Given the description of an element on the screen output the (x, y) to click on. 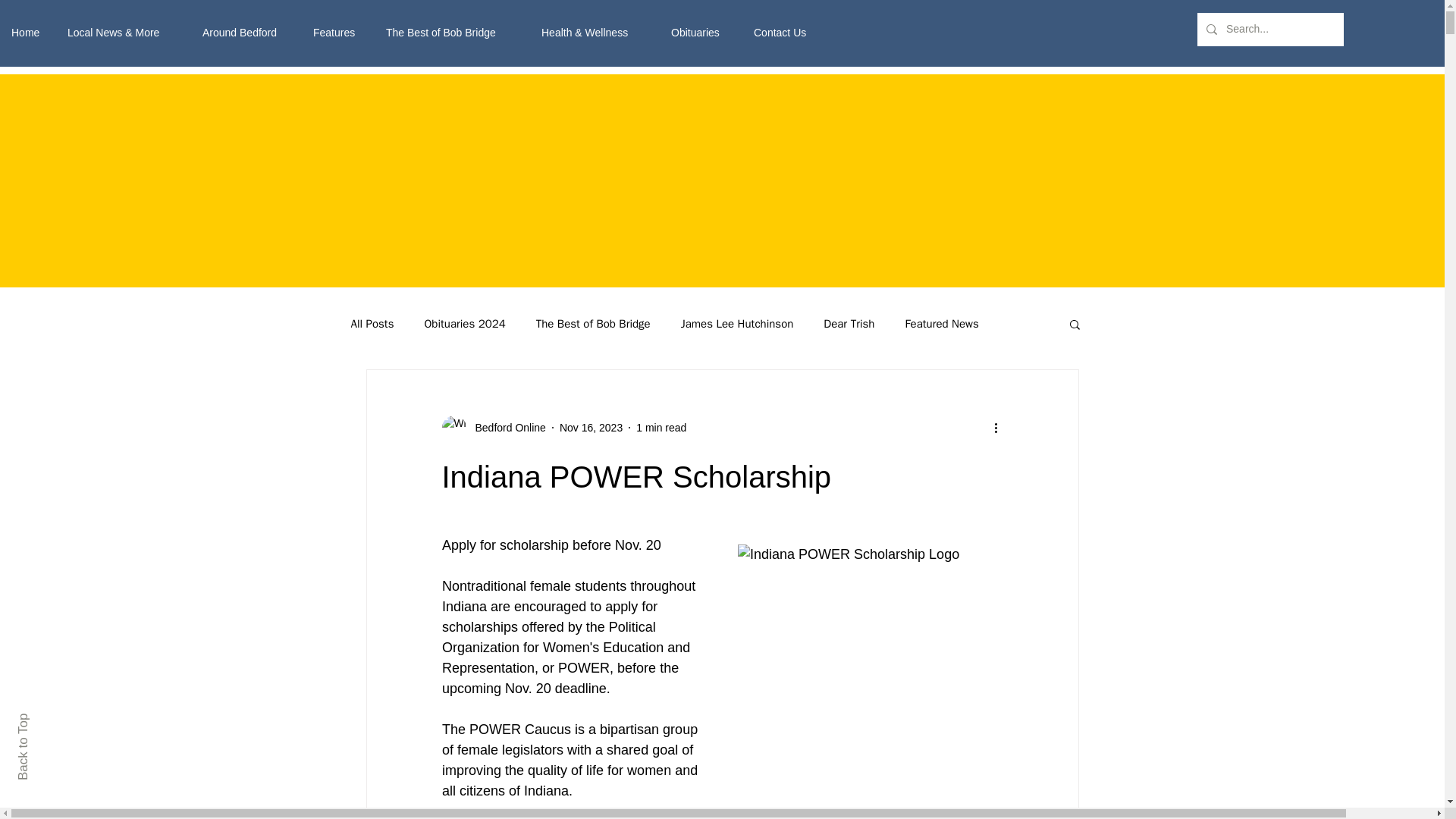
Dear Trish (849, 323)
Home (28, 32)
Contact Us (785, 32)
Bedford Online (504, 427)
All Posts (371, 323)
The Best of Bob Bridge (451, 32)
Obituaries 2024 (464, 323)
Obituaries (700, 32)
Around Bedford (245, 32)
1 min read (660, 427)
Nov 16, 2023 (591, 427)
Features (337, 32)
James Lee Hutchinson (737, 323)
The Best of Bob Bridge (592, 323)
